Given the description of an element on the screen output the (x, y) to click on. 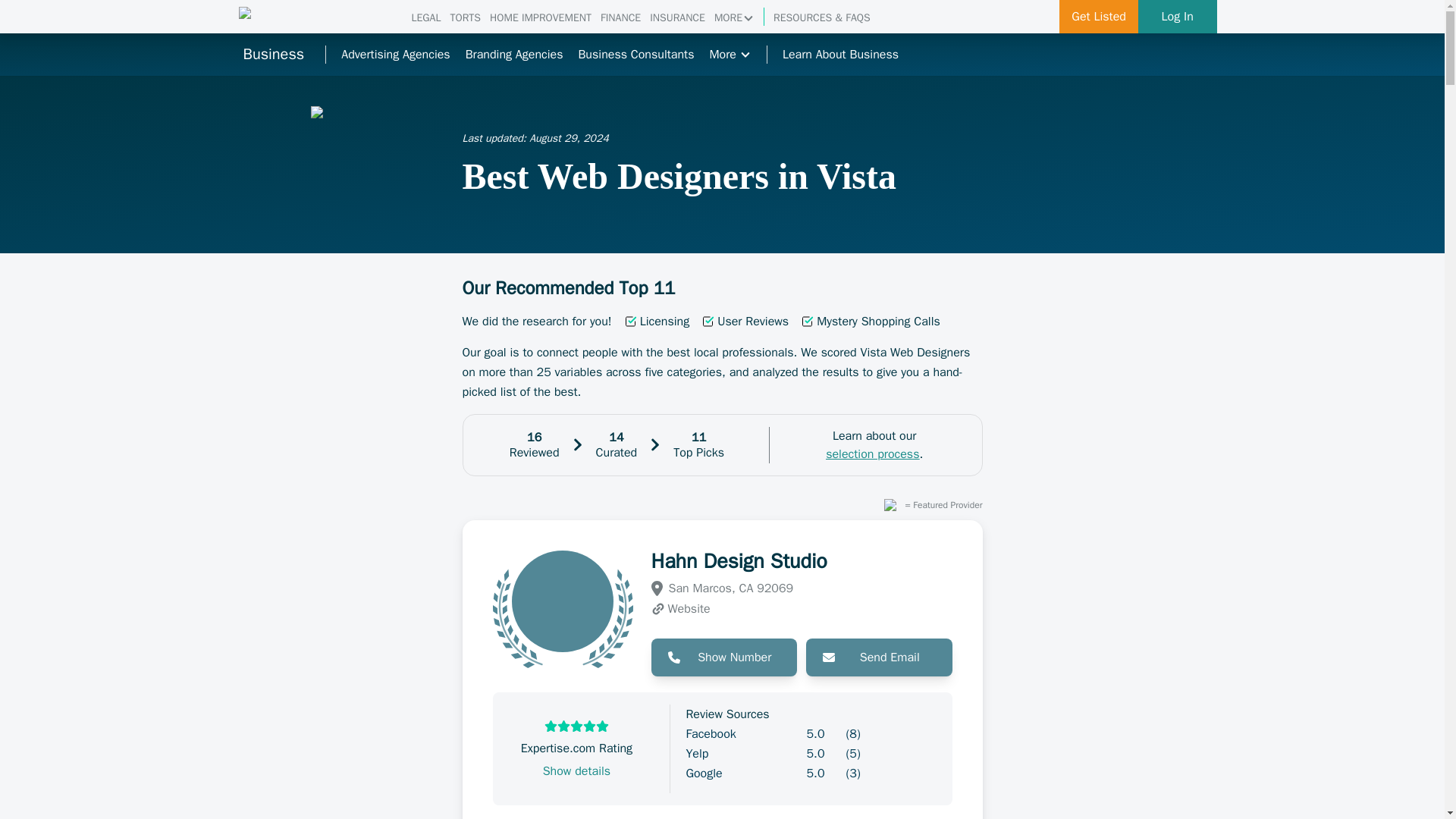
More (730, 54)
LEGAL (425, 17)
Branding Agencies (514, 54)
HOME IMPROVEMENT (540, 17)
Advertising Agencies (394, 54)
FINANCE (619, 17)
Business Consultants (636, 54)
Get Listed (1098, 16)
INSURANCE (676, 17)
MORE (734, 17)
